Given the description of an element on the screen output the (x, y) to click on. 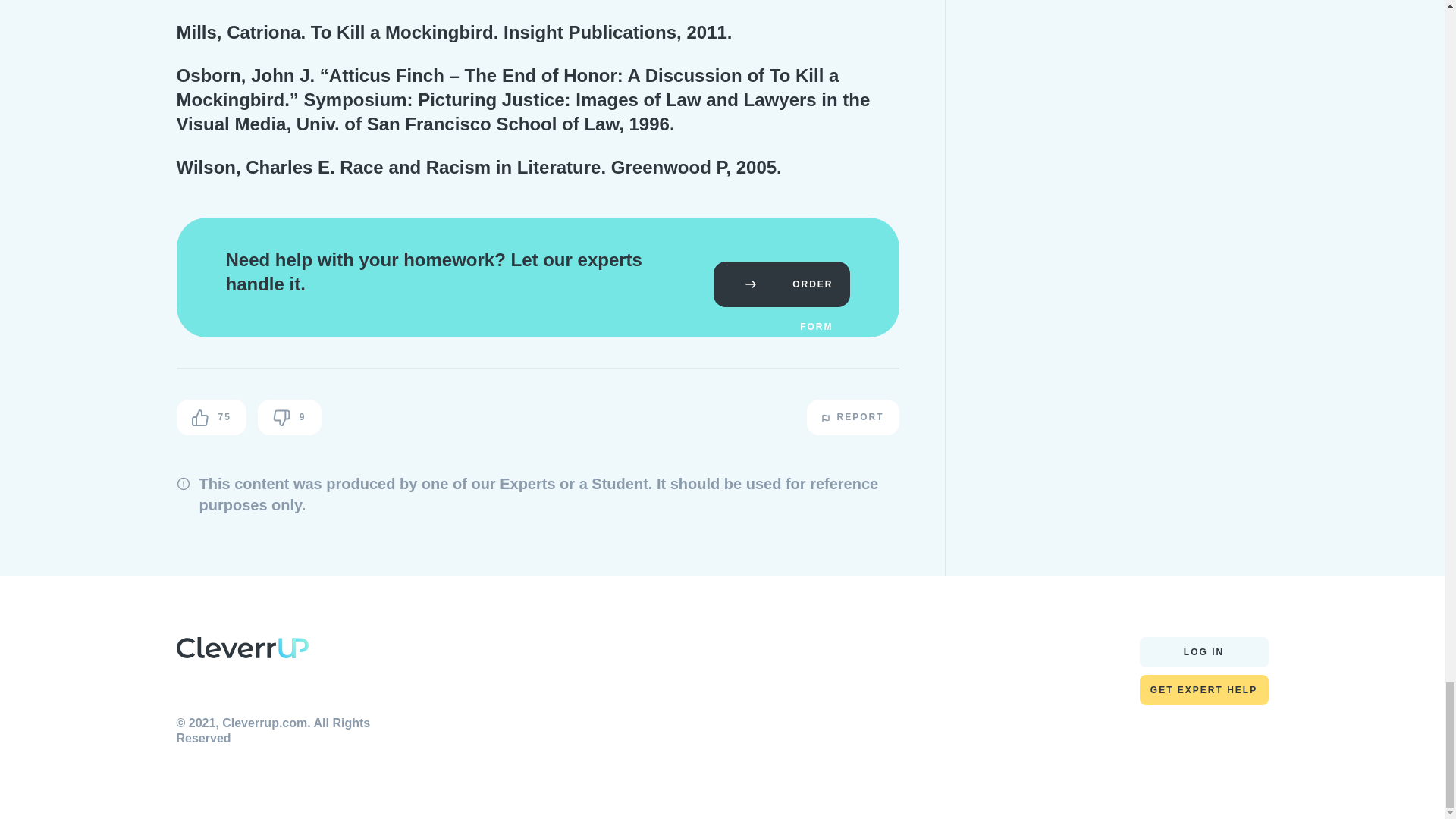
75 (211, 416)
logo (241, 647)
9 (289, 416)
Home (241, 651)
REPORT (852, 416)
ORDER FORM (780, 284)
